Given the description of an element on the screen output the (x, y) to click on. 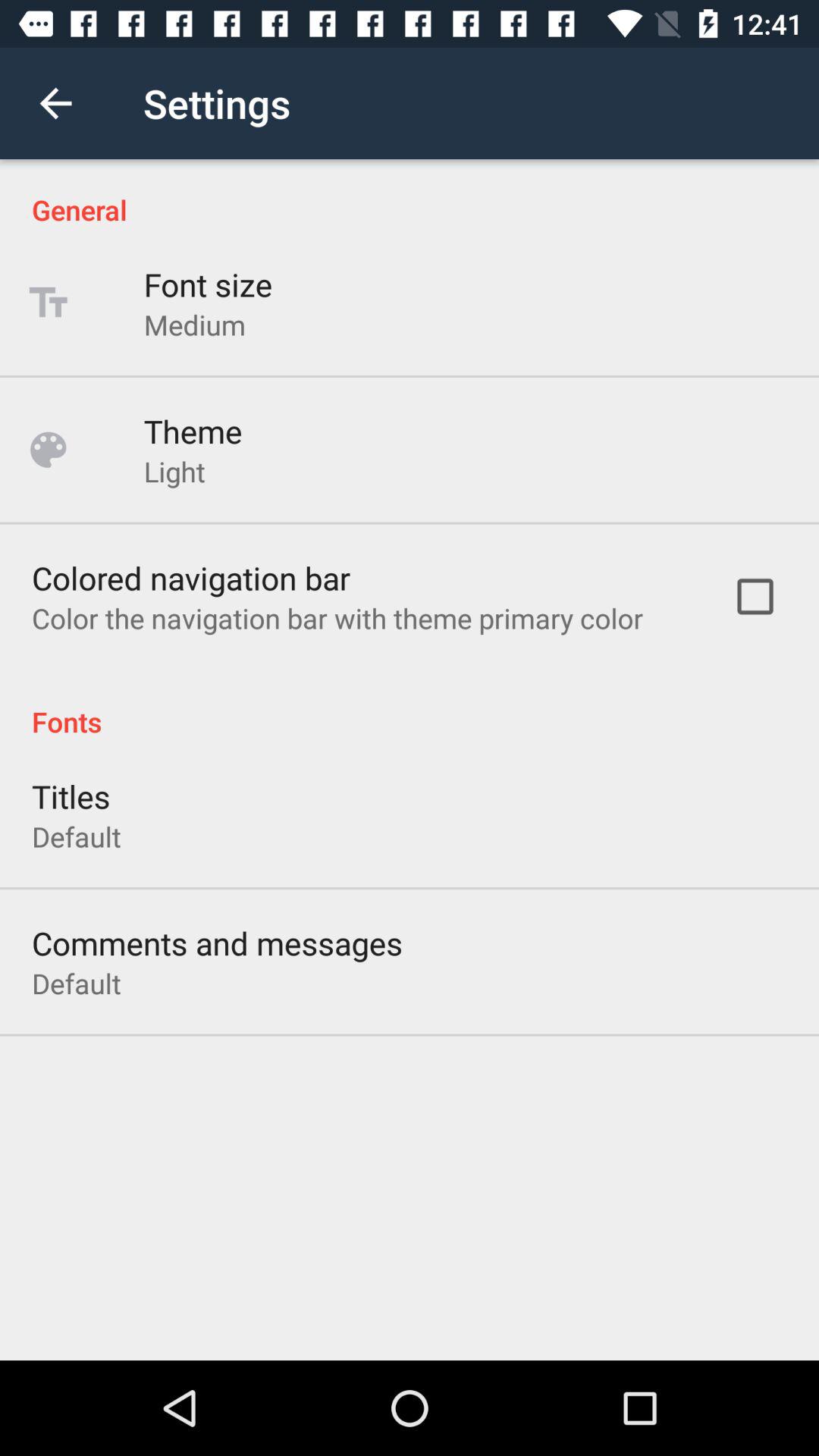
press item below the general icon (207, 283)
